Given the description of an element on the screen output the (x, y) to click on. 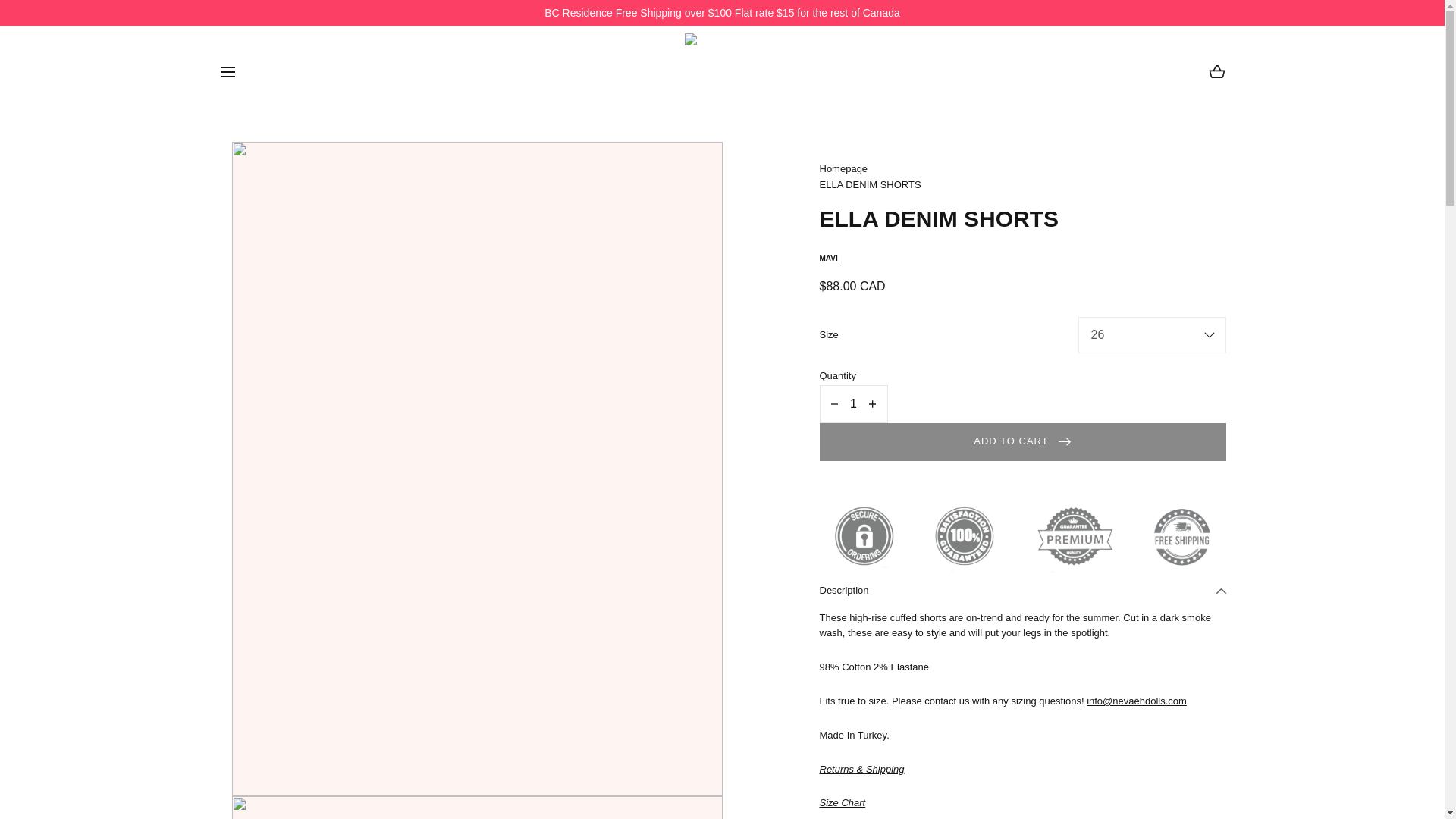
1 (852, 403)
SKIP TO CONTENT (80, 18)
Size Chart (841, 802)
